Given the description of an element on the screen output the (x, y) to click on. 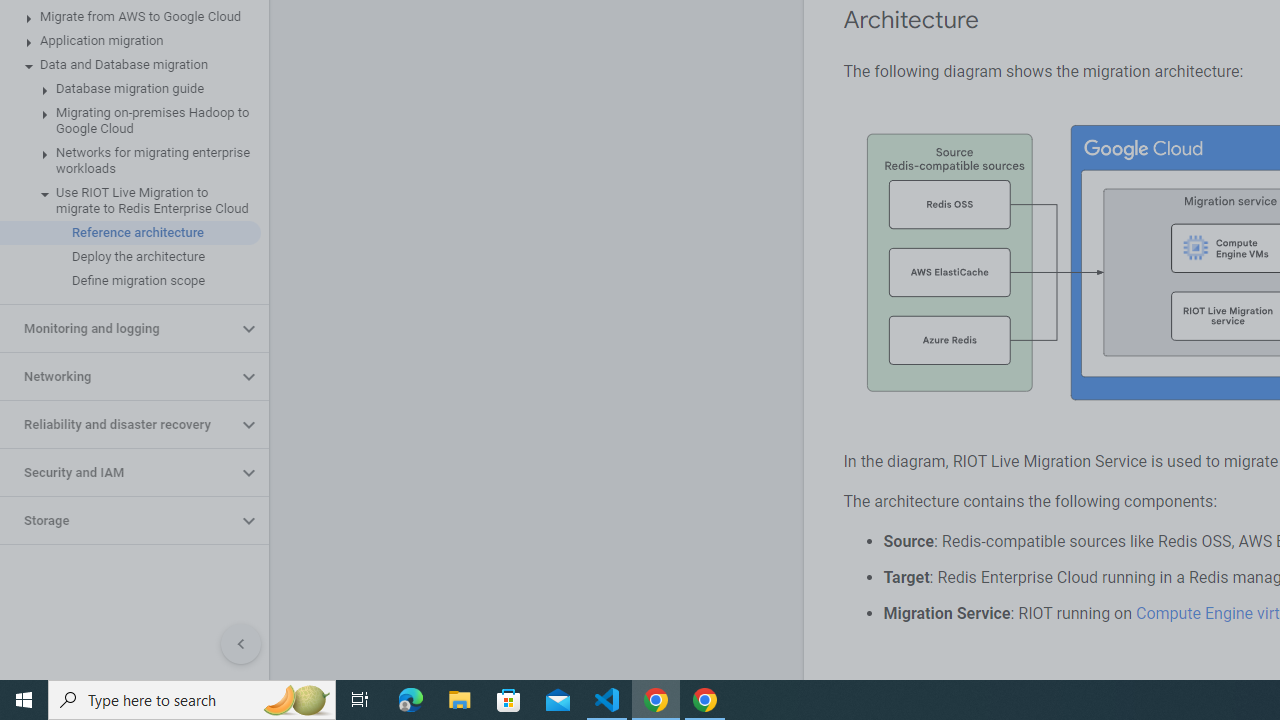
Define migration scope (130, 281)
Data and Database migration (130, 65)
Hide side navigation (241, 643)
Reliability and disaster recovery (118, 425)
Networking (118, 376)
Reference architecture (130, 232)
Database migration guide (130, 88)
Migrate from AWS to Google Cloud (130, 16)
Networks for migrating enterprise workloads (130, 160)
Use RIOT Live Migration to migrate to Redis Enterprise Cloud (130, 200)
Monitoring and logging (118, 328)
Migrating on-premises Hadoop to Google Cloud (130, 120)
Deploy the architecture (130, 256)
Storage (118, 520)
